Given the description of an element on the screen output the (x, y) to click on. 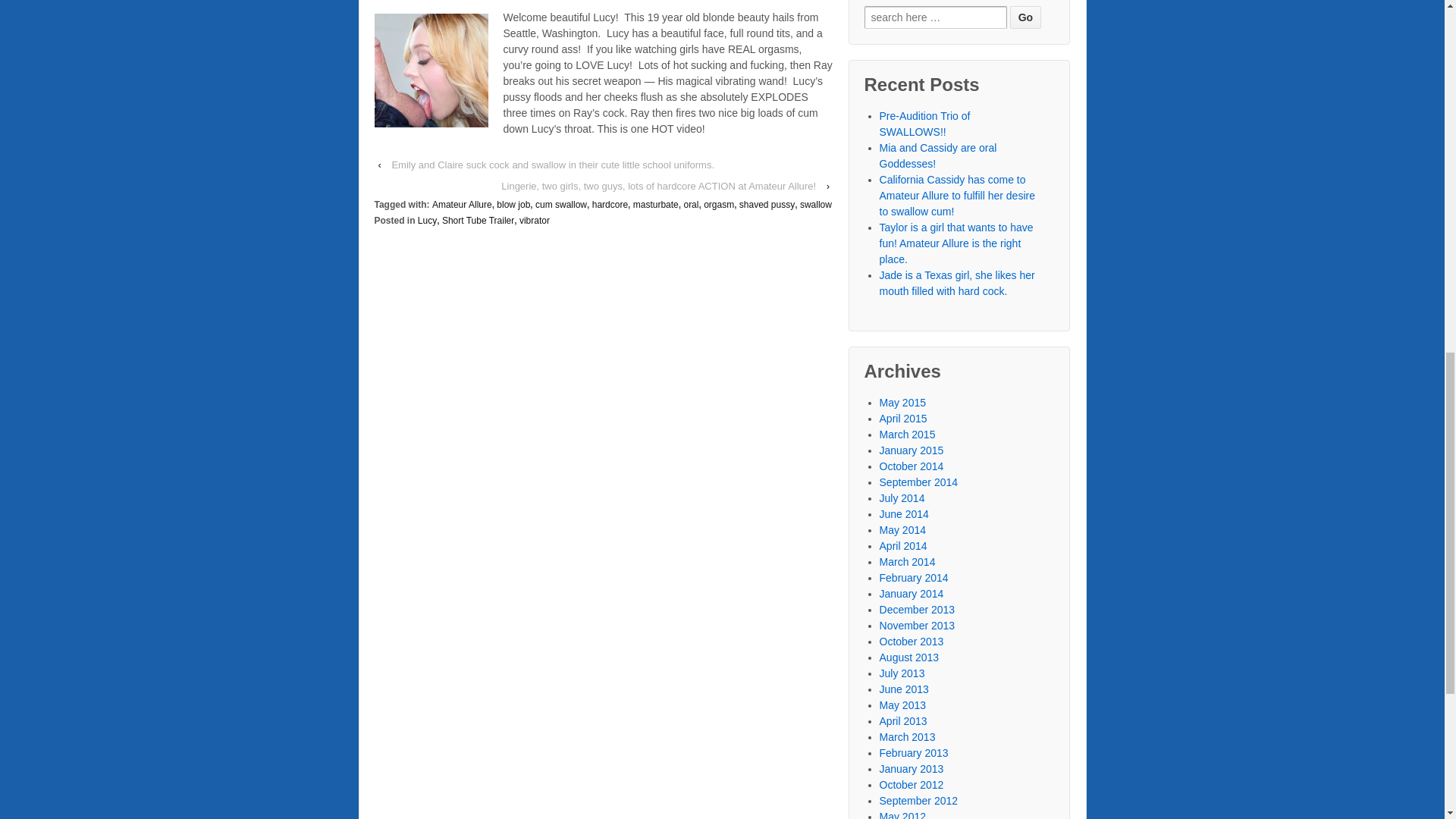
Go (1025, 16)
